Given the description of an element on the screen output the (x, y) to click on. 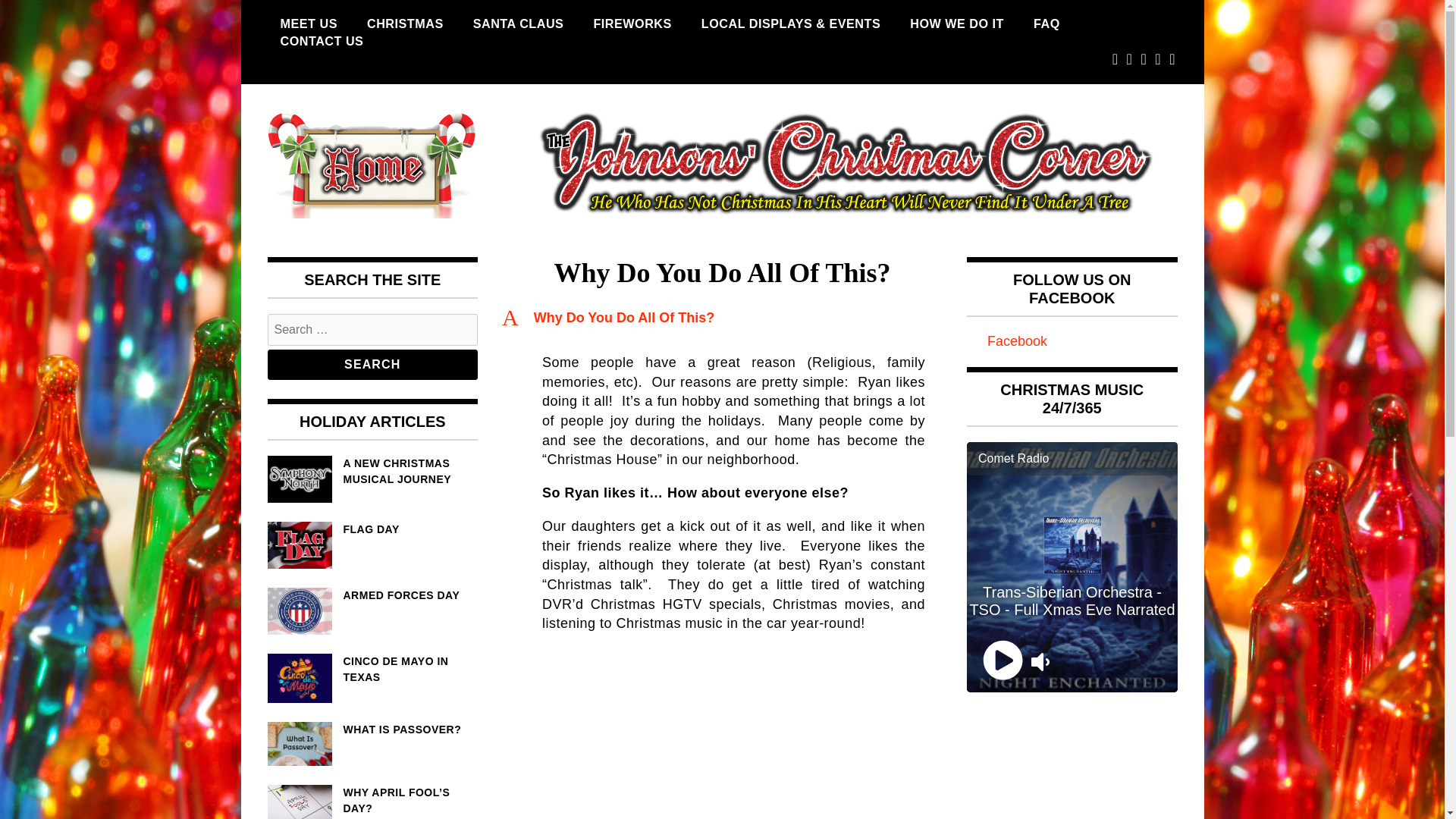
SANTA CLAUS (518, 23)
Search (371, 364)
FIREWORKS (631, 23)
HOW WE DO IT (956, 23)
CHRISTMAS (404, 23)
FAQ (1046, 23)
Search (371, 364)
CONTACT US (320, 40)
MEET US (307, 23)
